Given the description of an element on the screen output the (x, y) to click on. 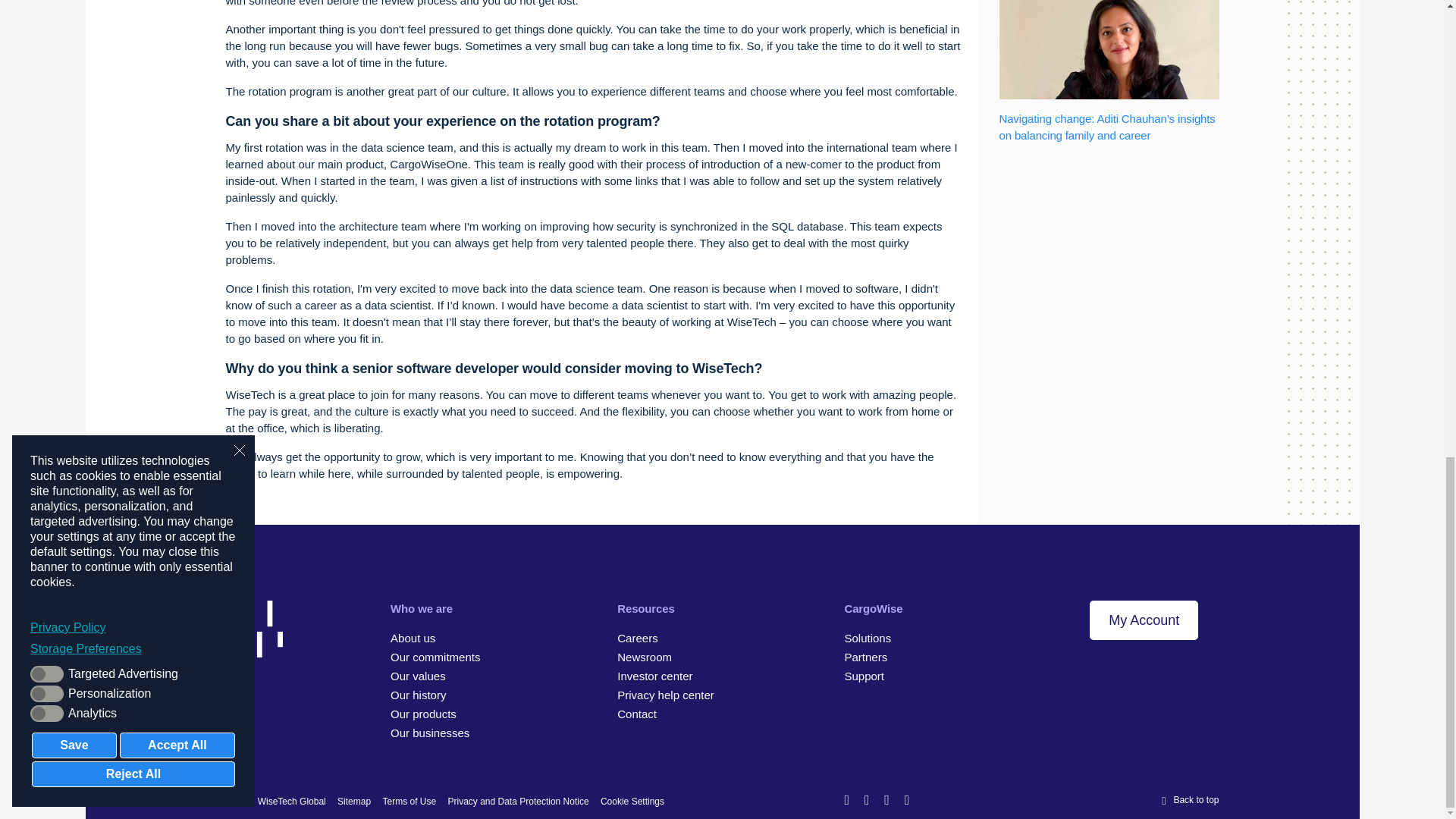
Sitemap (354, 801)
Find a Partner (865, 656)
Join Us (637, 637)
Discover CargoWise (867, 637)
Support (863, 675)
Privacy help center (665, 694)
Our history (417, 694)
CargoWise (423, 713)
Our values (417, 675)
News (644, 656)
